Given the description of an element on the screen output the (x, y) to click on. 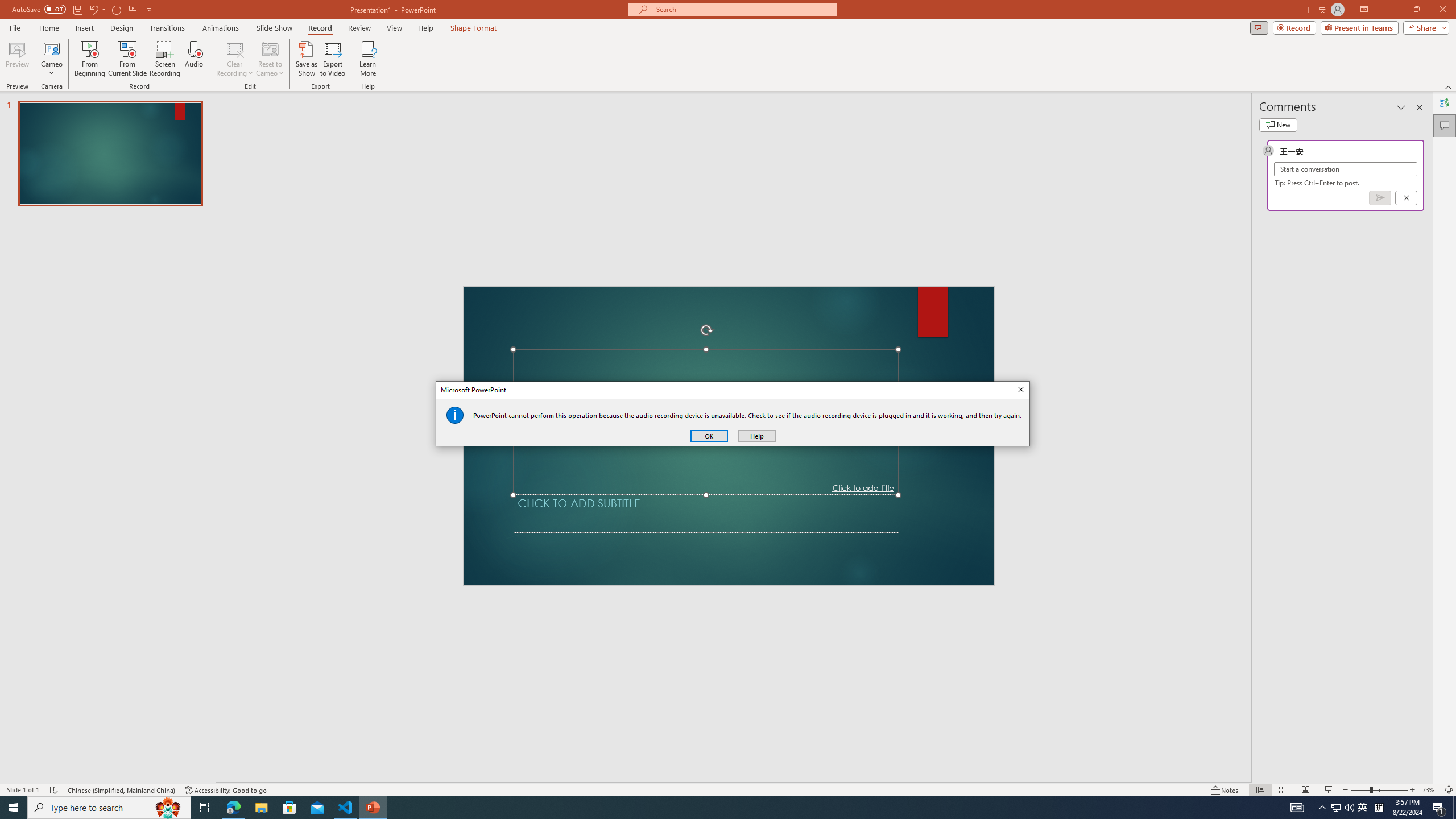
Zoom 73% (1430, 790)
